Given the description of an element on the screen output the (x, y) to click on. 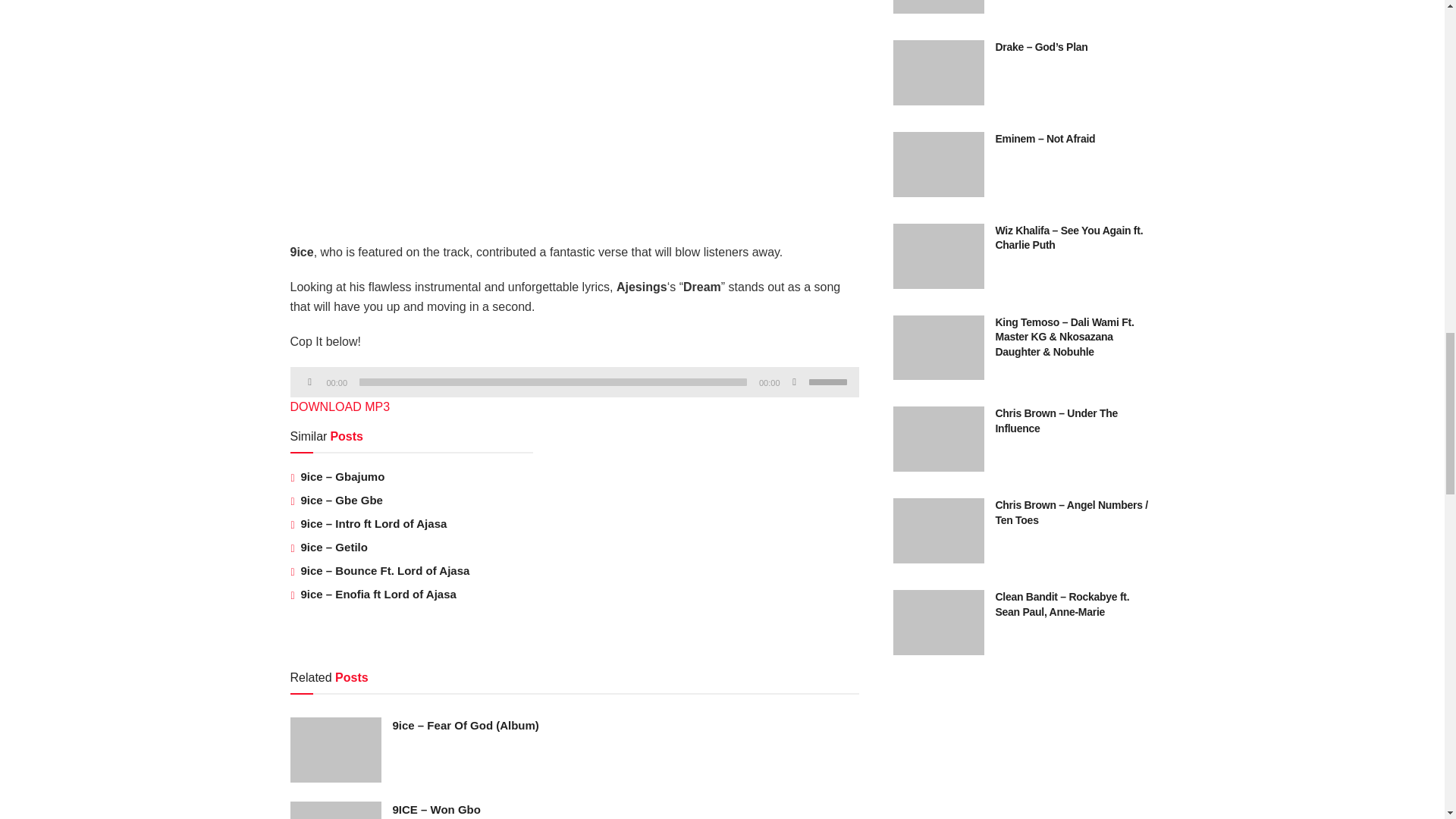
Play (309, 381)
Mute (794, 381)
